Given the description of an element on the screen output the (x, y) to click on. 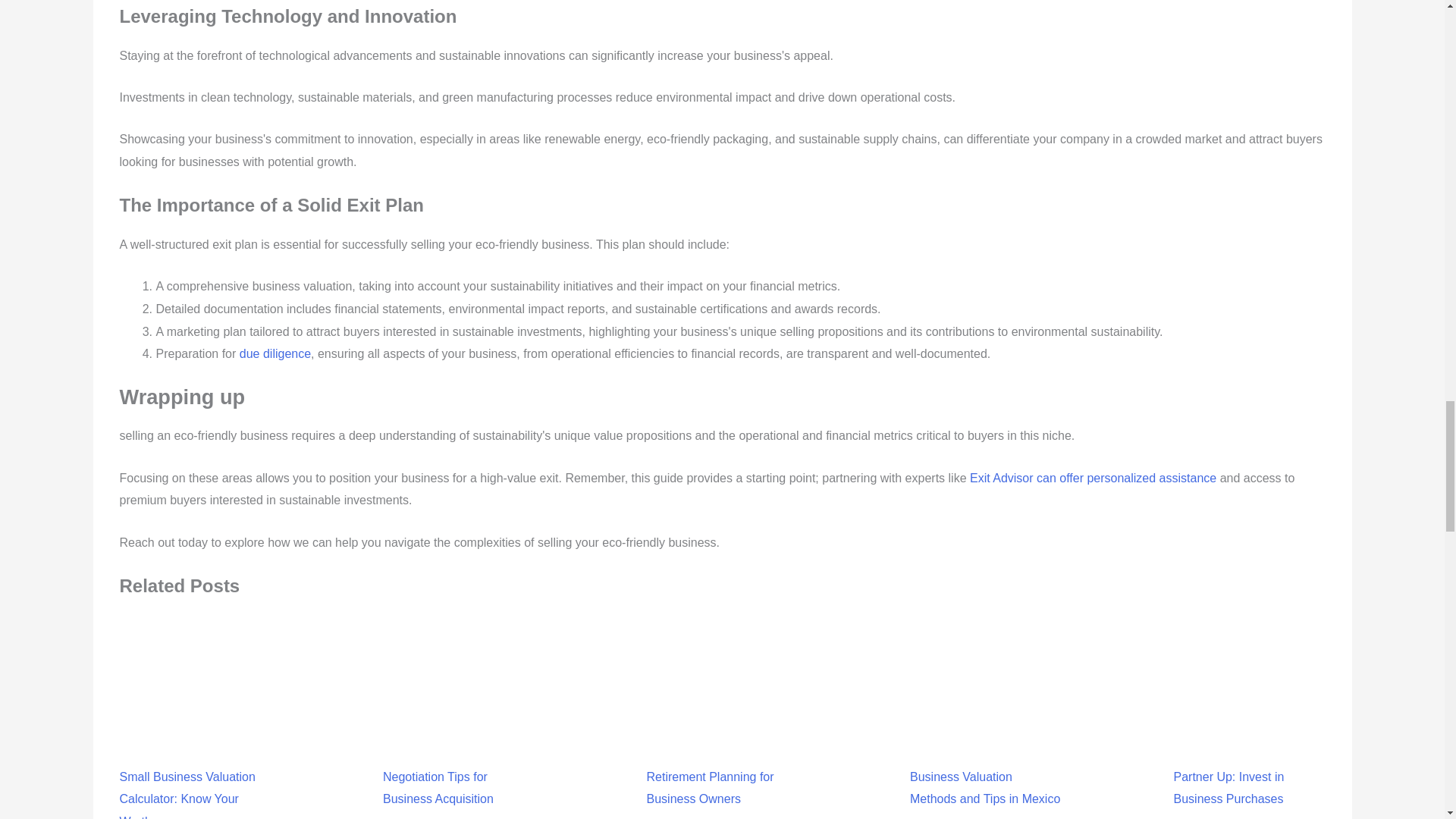
due diligence (275, 353)
Partner Up: Invest in Business Purchases (1248, 743)
Negotiation Tips for Business Acquisition (458, 743)
Business Valuation Methods and Tips in Mexico (985, 743)
Retirement Planning for Business Owners (721, 743)
due diligence (275, 353)
Exit Advisor can offer personalized assistance (1092, 477)
Small Business Valuation Calculator: Know Your Worth (194, 750)
